Given the description of an element on the screen output the (x, y) to click on. 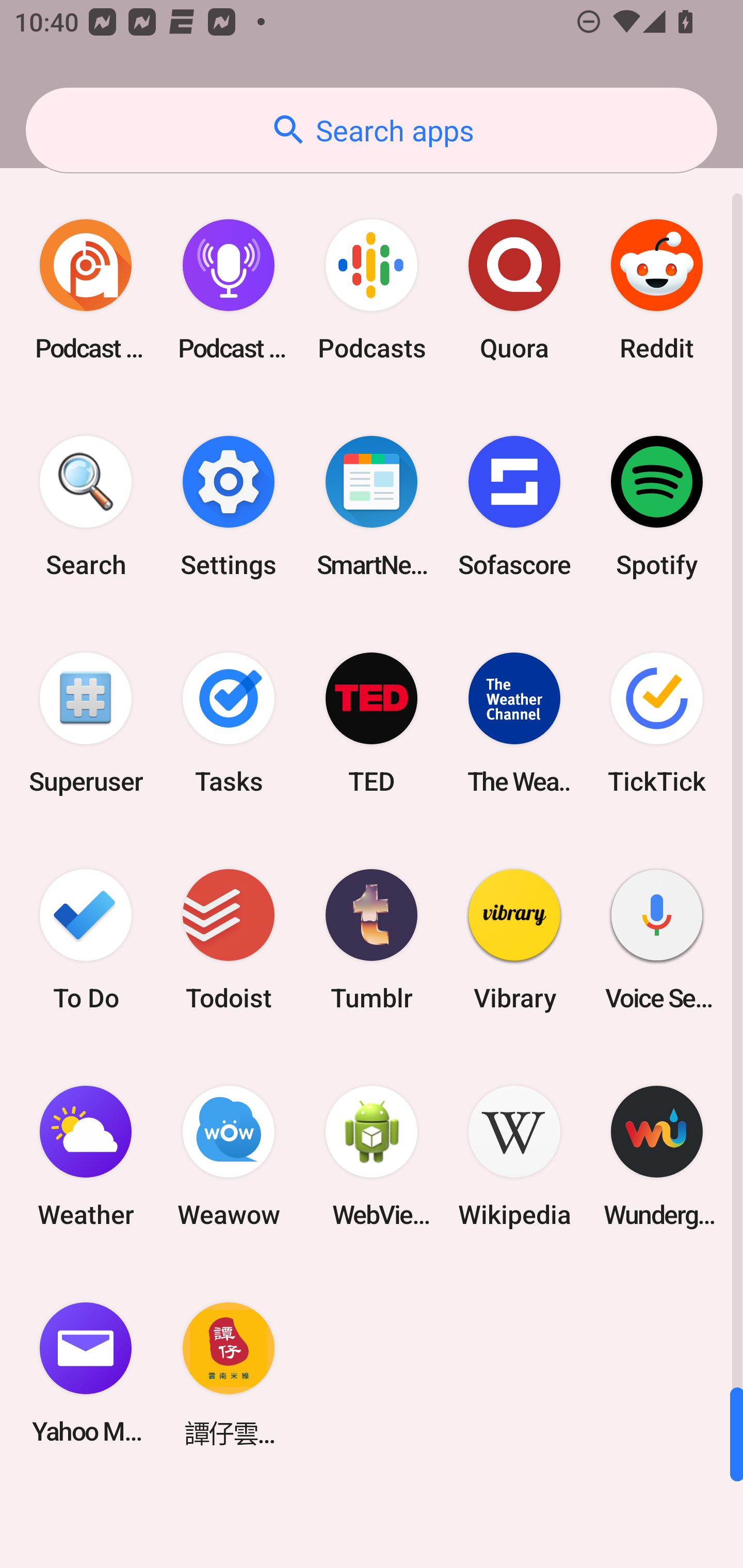
  Search apps (371, 130)
Podcast Addict (85, 289)
Podcast Player (228, 289)
Podcasts (371, 289)
Quora (514, 289)
Reddit (656, 289)
Search (85, 506)
Settings (228, 506)
SmartNews (371, 506)
Sofascore (514, 506)
Spotify (656, 506)
Superuser (85, 722)
Tasks (228, 722)
TED (371, 722)
The Weather Channel (514, 722)
TickTick (656, 722)
To Do (85, 939)
Todoist (228, 939)
Tumblr (371, 939)
Vibrary (514, 939)
Voice Search (656, 939)
Weather (85, 1156)
Weawow (228, 1156)
WebView Browser Tester (371, 1156)
Wikipedia (514, 1156)
Wunderground (656, 1156)
Yahoo Mail (85, 1373)
譚仔雲南米線 (228, 1373)
